Given the description of an element on the screen output the (x, y) to click on. 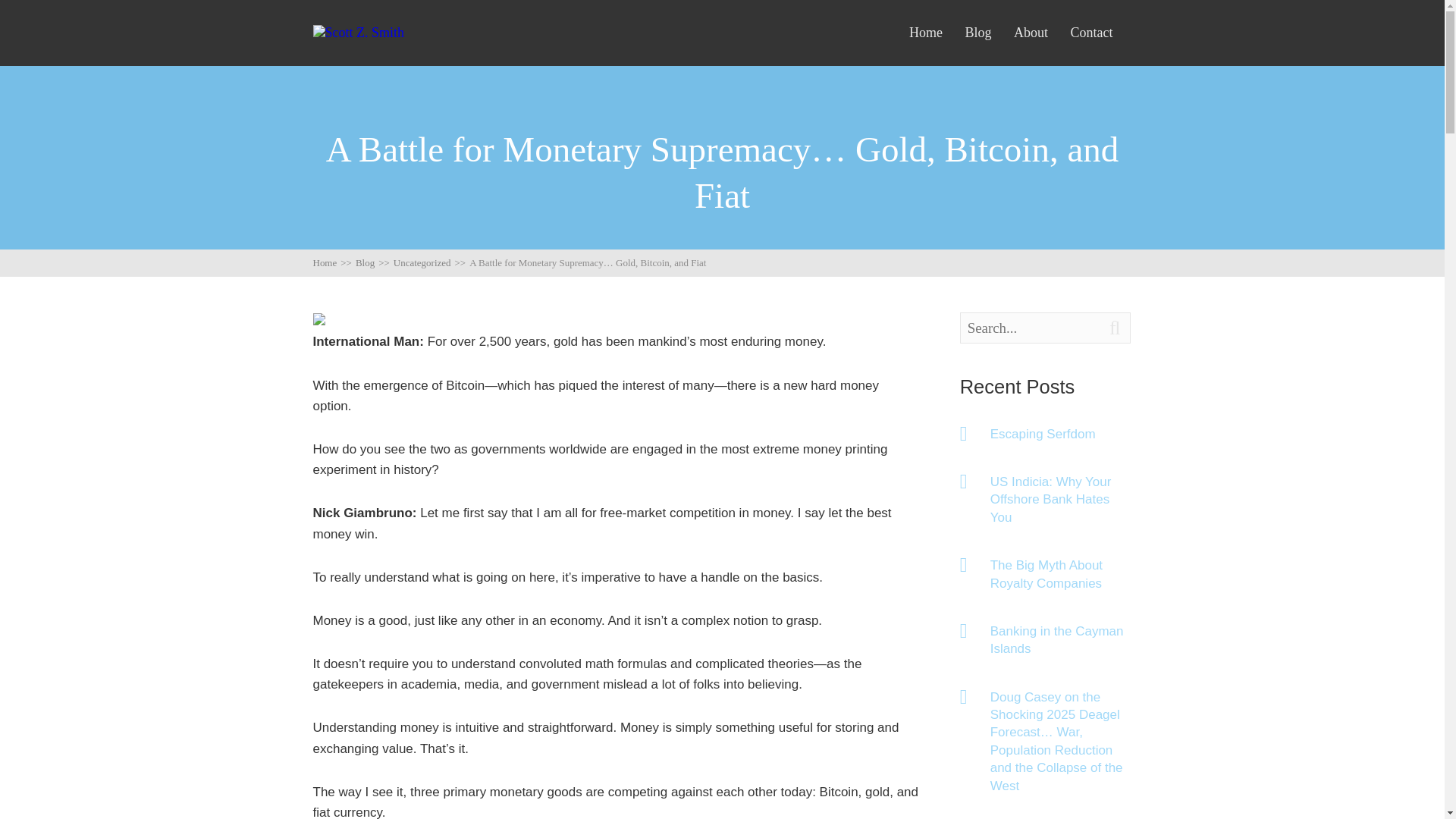
US Indicia: Why Your Offshore Bank Hates You (1061, 499)
Banking in the Cayman Islands (1061, 640)
Blog (977, 32)
Contact (1091, 32)
Home (925, 32)
About (1030, 32)
The Big Myth About Royalty Companies (1061, 574)
Escaping Serfdom (1061, 434)
